Given the description of an element on the screen output the (x, y) to click on. 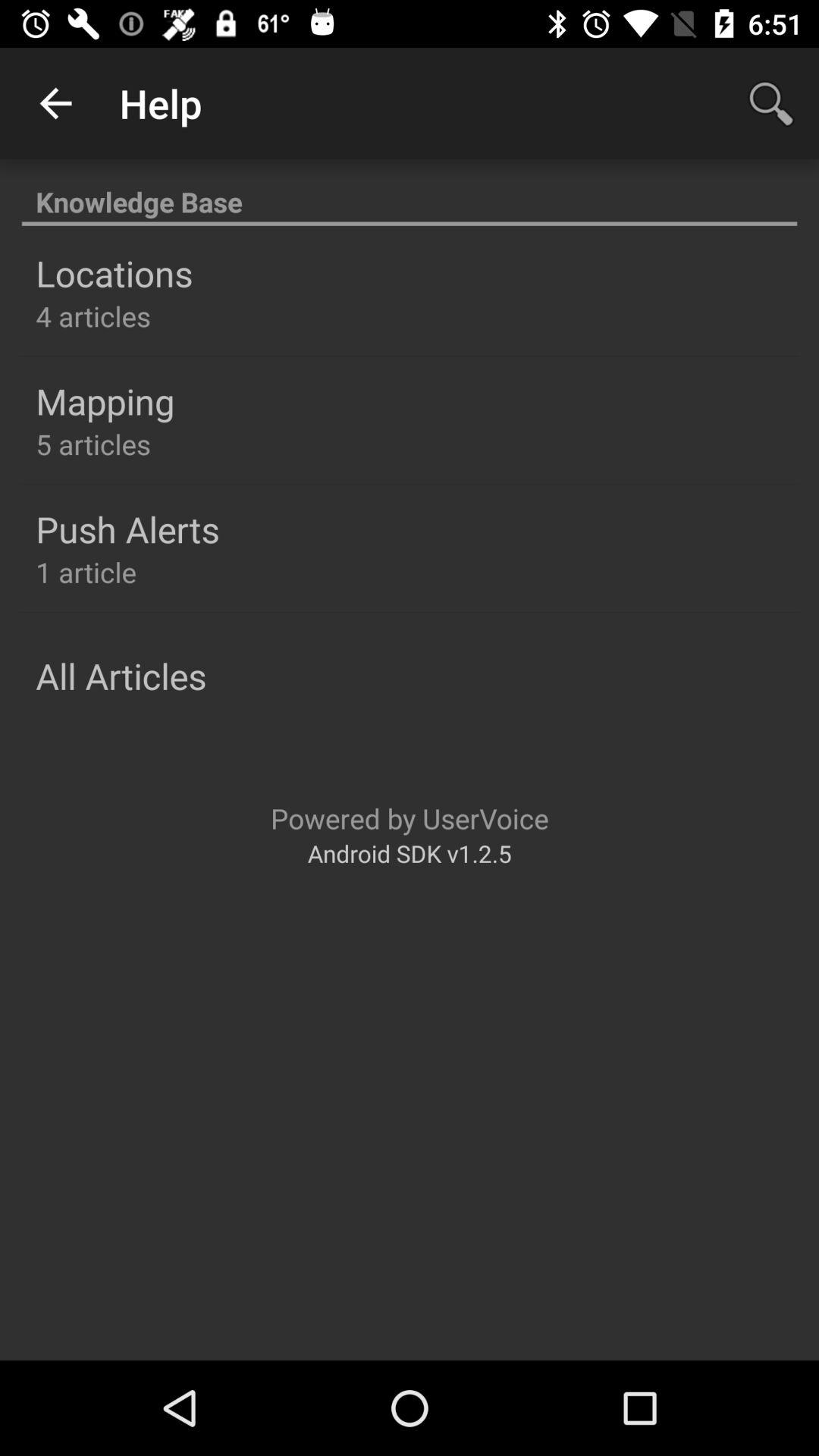
choose icon above the 4 articles (113, 273)
